Given the description of an element on the screen output the (x, y) to click on. 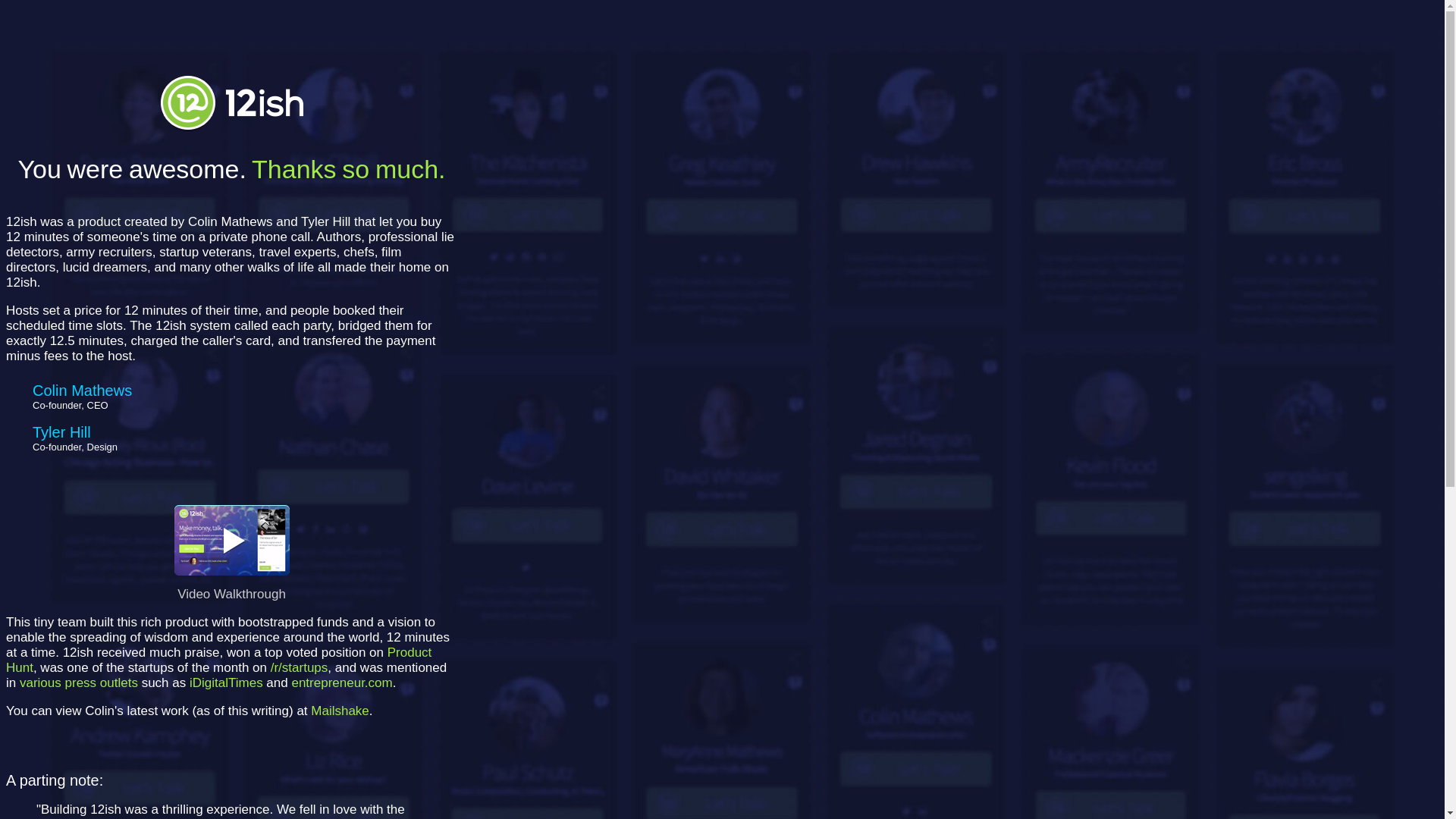
iDigitalTimes (226, 682)
Mailshake (340, 710)
press (81, 682)
entrepreneur.com (341, 682)
various (40, 682)
Tyler Hill (61, 432)
Product Hunt (217, 659)
Colin Mathews (82, 390)
outlets (119, 682)
